Given the description of an element on the screen output the (x, y) to click on. 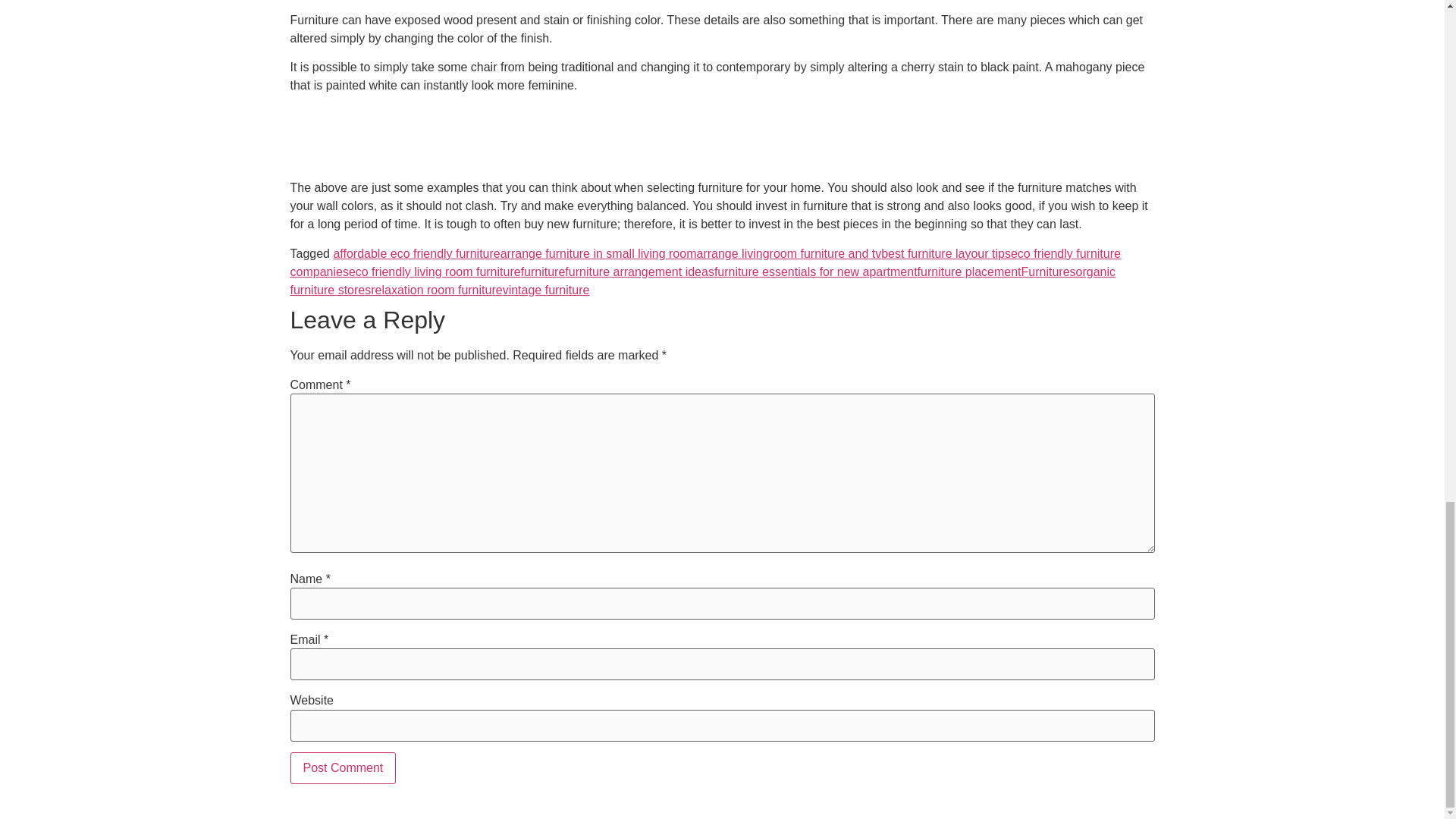
best furniture layour tips (945, 253)
Post Comment (342, 767)
Advertisement (721, 139)
relaxation room furniture (436, 289)
furniture essentials for new apartment (815, 271)
arrange livingroom furniture and tv (787, 253)
furniture (543, 271)
eco friendly furniture companies (704, 262)
Furnitures (1048, 271)
affordable eco friendly furniture (416, 253)
